Given the description of an element on the screen output the (x, y) to click on. 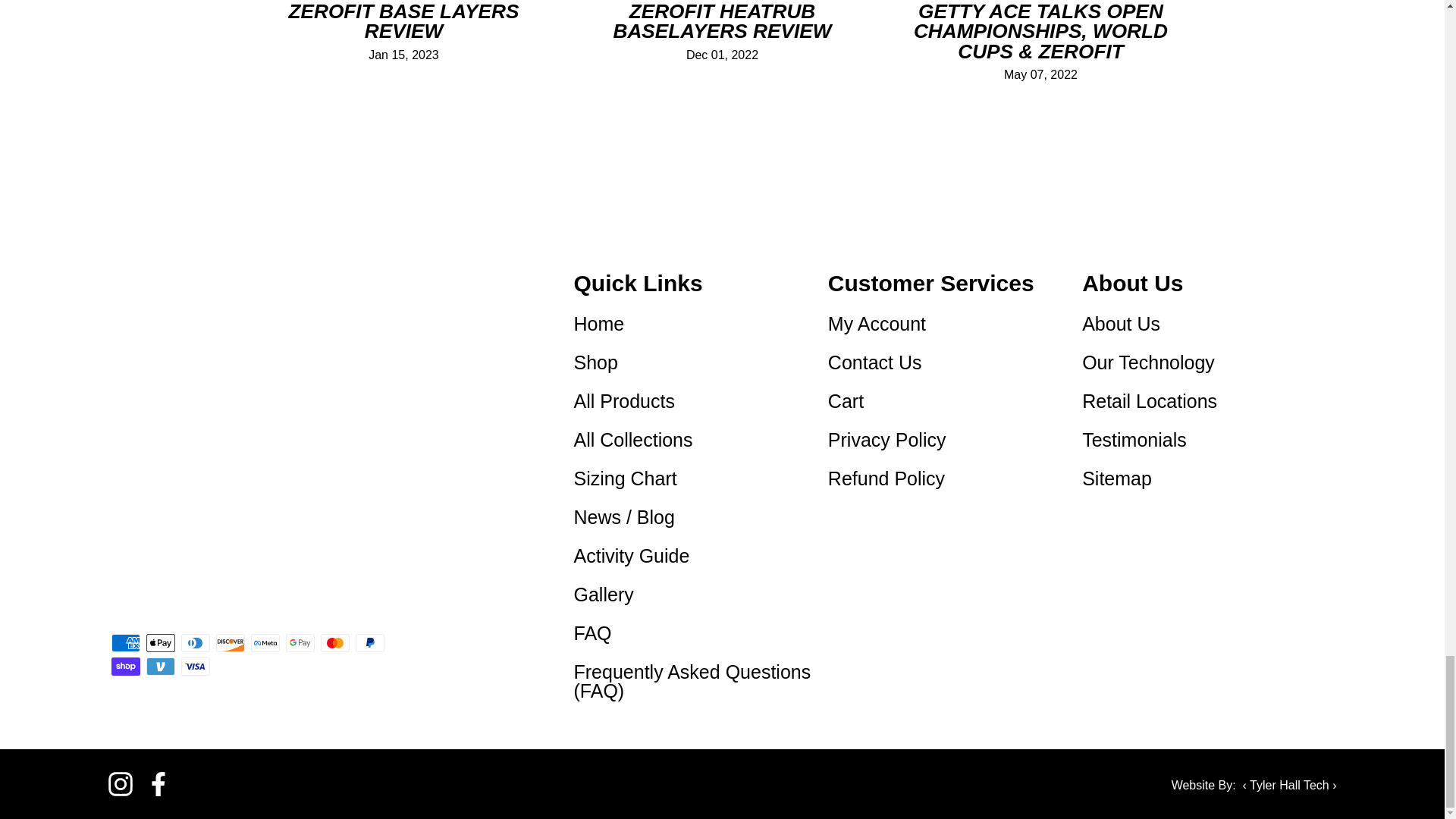
Visa (194, 666)
American Express (124, 642)
Discover (229, 642)
Venmo (159, 666)
Mastercard (334, 642)
PayPal (369, 642)
Diners Club (194, 642)
Apple Pay (159, 642)
Shop Pay (124, 666)
Google Pay (299, 642)
Zerofit USA on Facebook (157, 784)
Meta Pay (264, 642)
Zerofit USA on Instagram (119, 784)
